Given the description of an element on the screen output the (x, y) to click on. 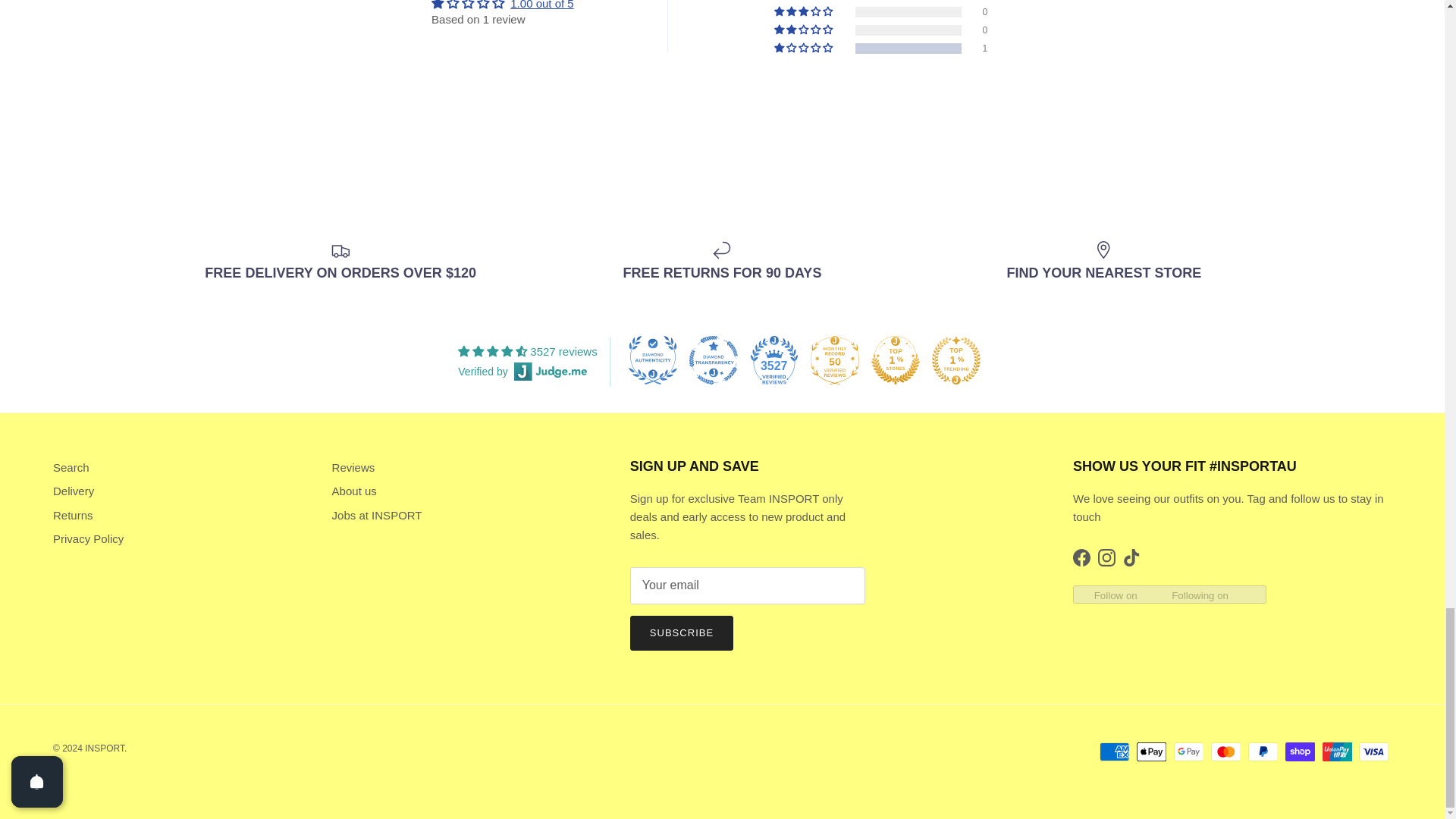
INSPORT on Instagram (1106, 557)
INSPORT on Facebook (1081, 557)
INSPORT on TikTok (1131, 557)
